Given the description of an element on the screen output the (x, y) to click on. 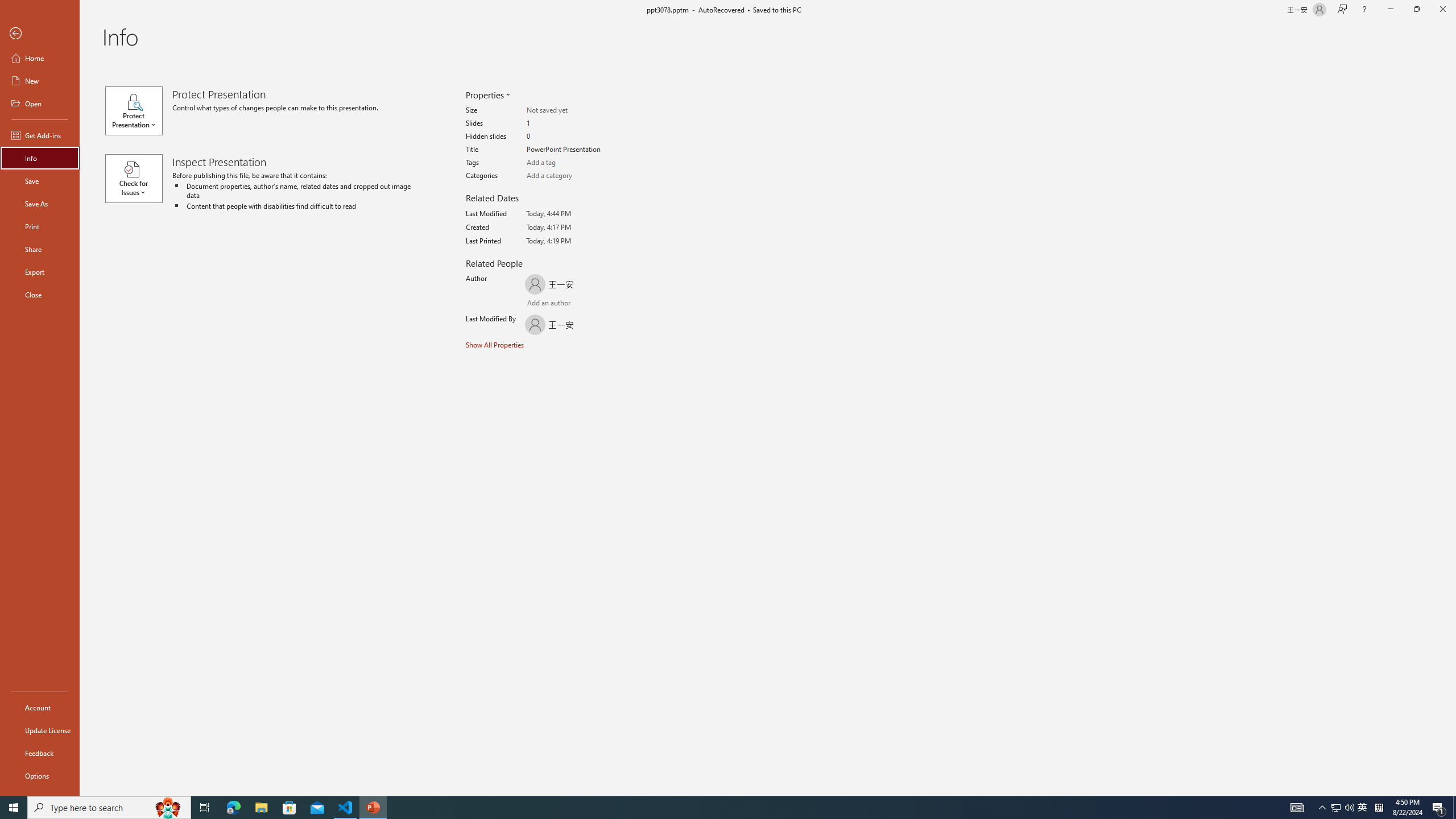
Export (40, 271)
Check for Issues (137, 178)
Hidden slides (571, 136)
Browse Address Book (595, 304)
Protect Presentation (137, 110)
Print (40, 225)
Options (40, 775)
Get Add-ins (40, 134)
Feedback (40, 753)
Categories (571, 175)
